Given the description of an element on the screen output the (x, y) to click on. 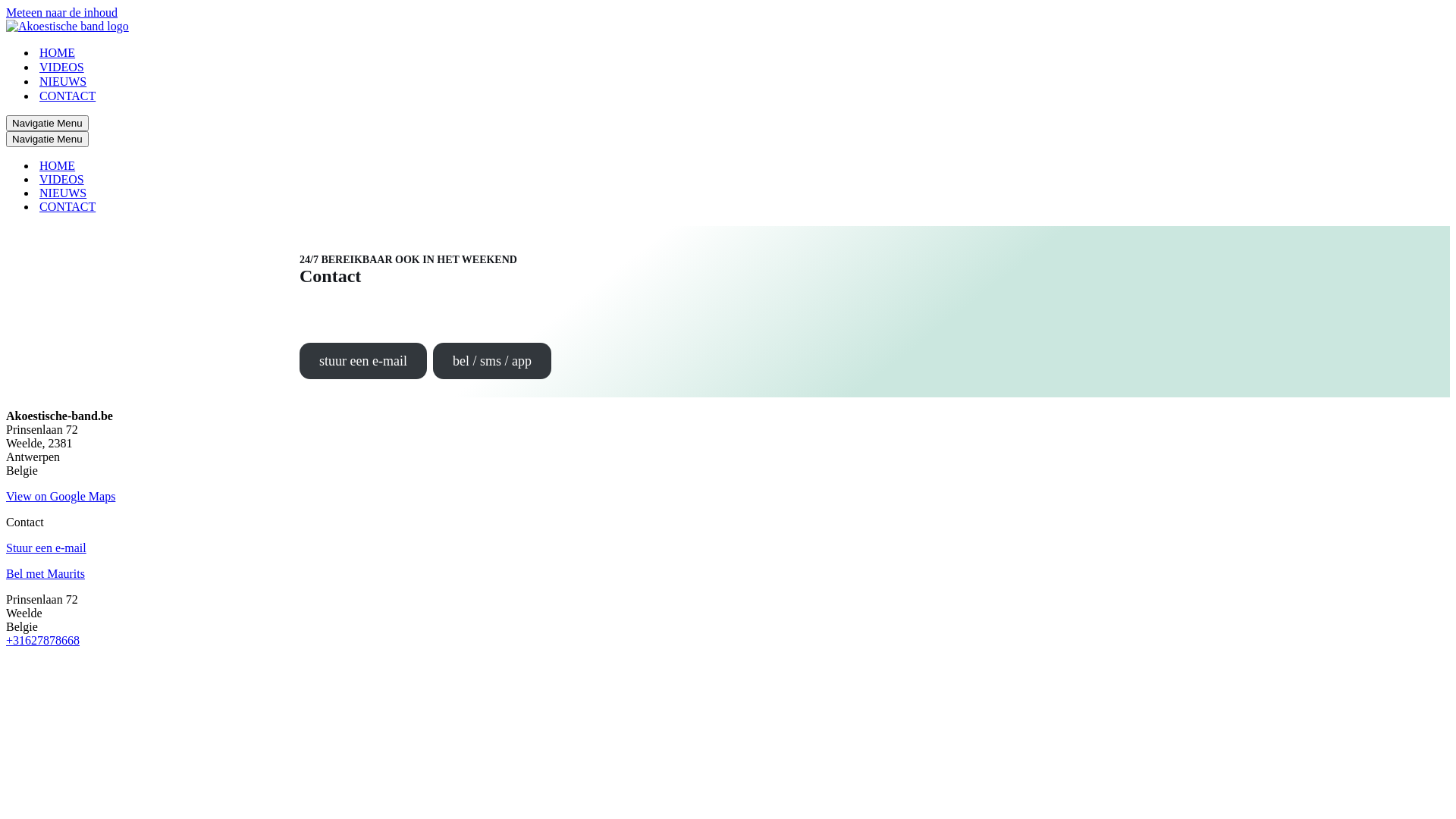
HOME Element type: text (57, 52)
VIDEOS Element type: text (61, 179)
View on Google Maps Element type: text (60, 495)
VIDEOS Element type: text (61, 66)
Bel met Maurits Element type: text (45, 573)
Meteen naar de inhoud Element type: text (61, 12)
CONTACT Element type: text (67, 95)
Navigatie Menu Element type: text (47, 139)
Navigatie Menu Element type: text (47, 123)
NIEUWS Element type: text (62, 81)
stuur een e-mail Element type: text (362, 360)
bel / sms / app Element type: text (492, 360)
+31627878668 Element type: text (42, 639)
Stuur een e-mail Element type: text (46, 547)
HOME Element type: text (57, 165)
NIEUWS Element type: text (62, 193)
CONTACT Element type: text (67, 206)
